Given the description of an element on the screen output the (x, y) to click on. 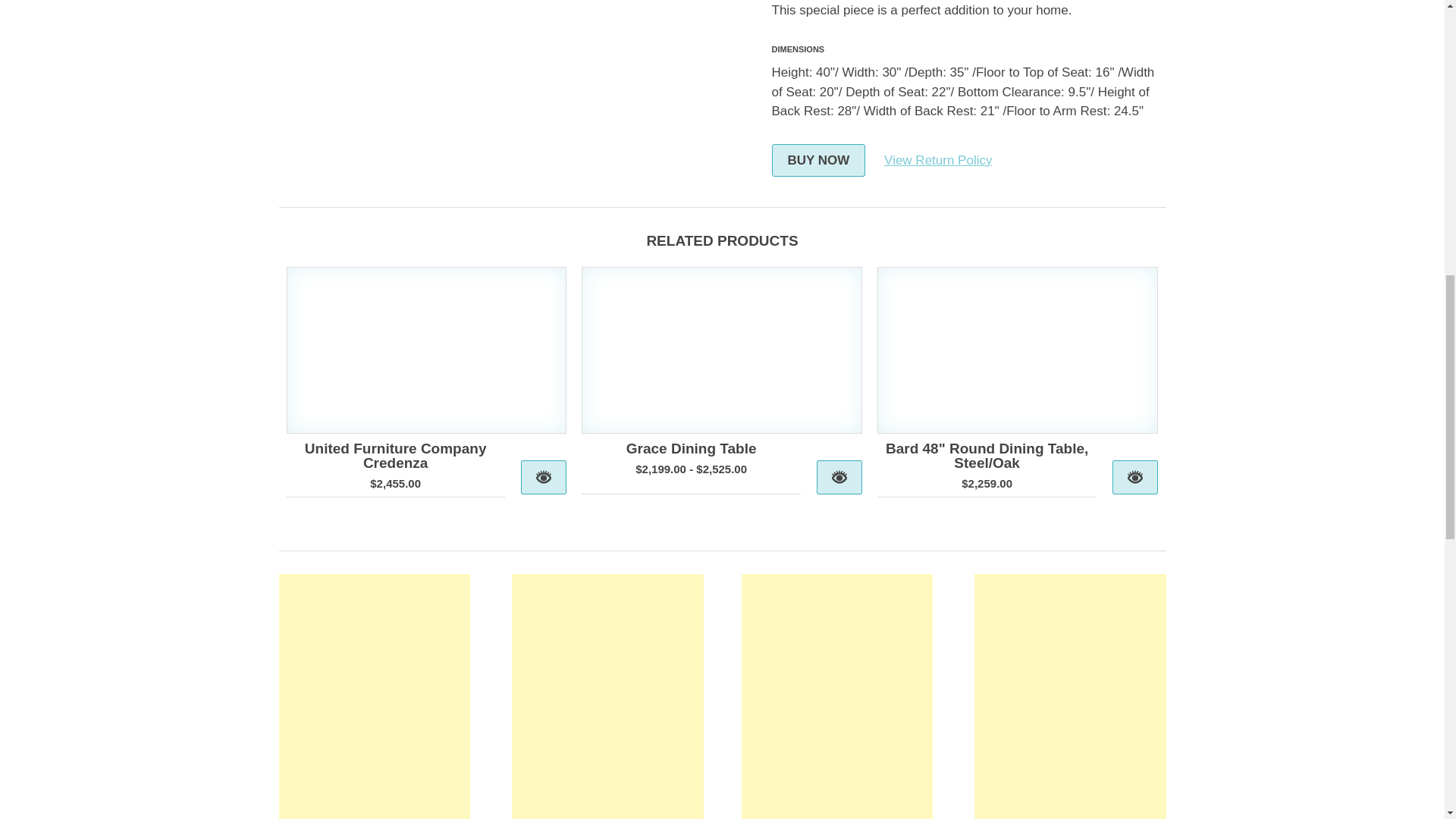
Grace Dining Table (691, 447)
BUY NOW (818, 160)
United Furniture Company Credenza (395, 454)
View Return Policy (937, 159)
